Given the description of an element on the screen output the (x, y) to click on. 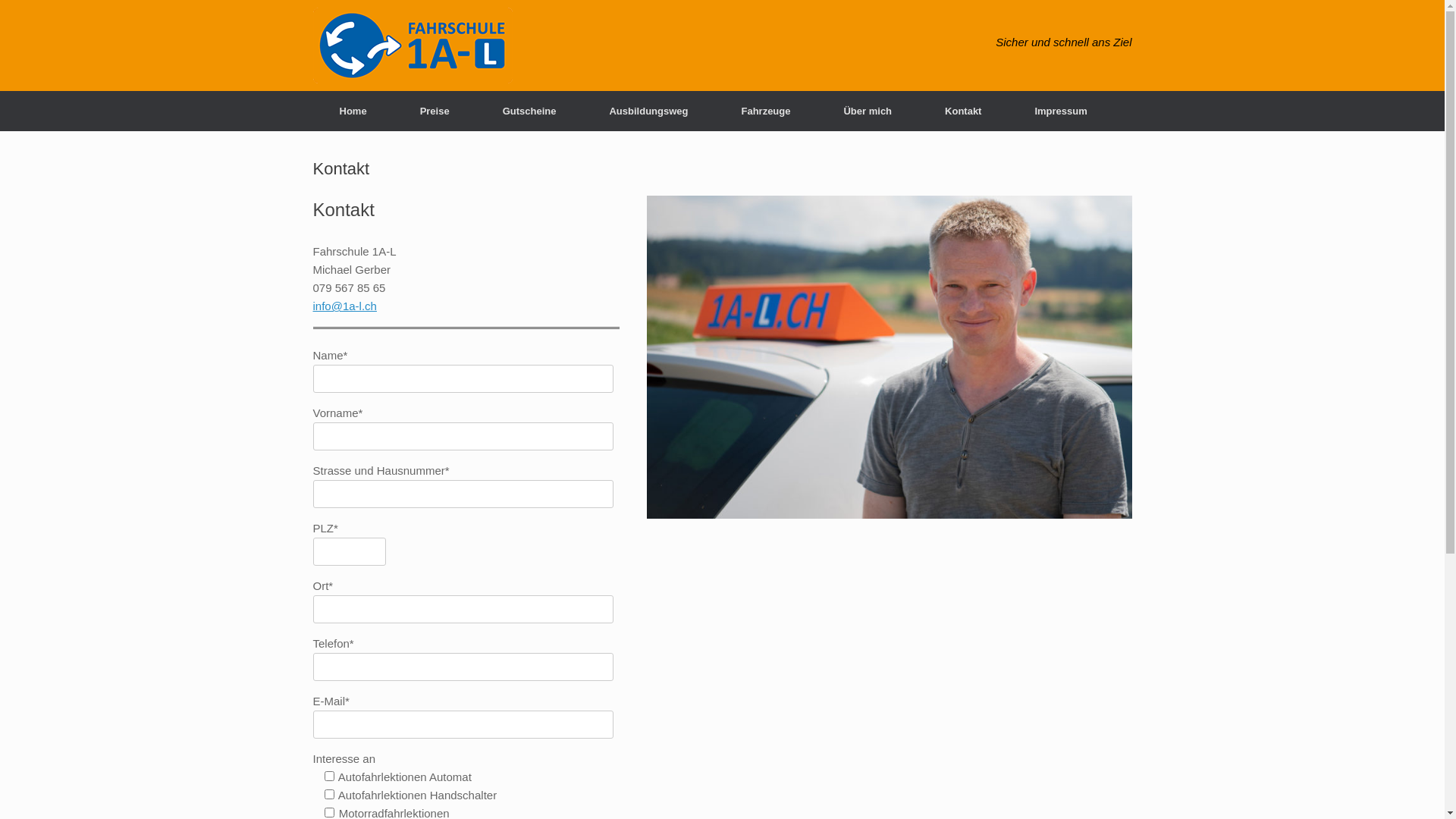
Home Element type: text (352, 111)
Impressum Element type: text (1060, 111)
Preise Element type: text (434, 111)
Fahrschule 1A-L Michael Gerber Element type: hover (411, 45)
info@1a-l.ch Element type: text (344, 305)
Gutscheine Element type: text (529, 111)
Ausbildungsweg Element type: text (648, 111)
Fahrzeuge Element type: text (765, 111)
Kontakt Element type: text (962, 111)
